Given the description of an element on the screen output the (x, y) to click on. 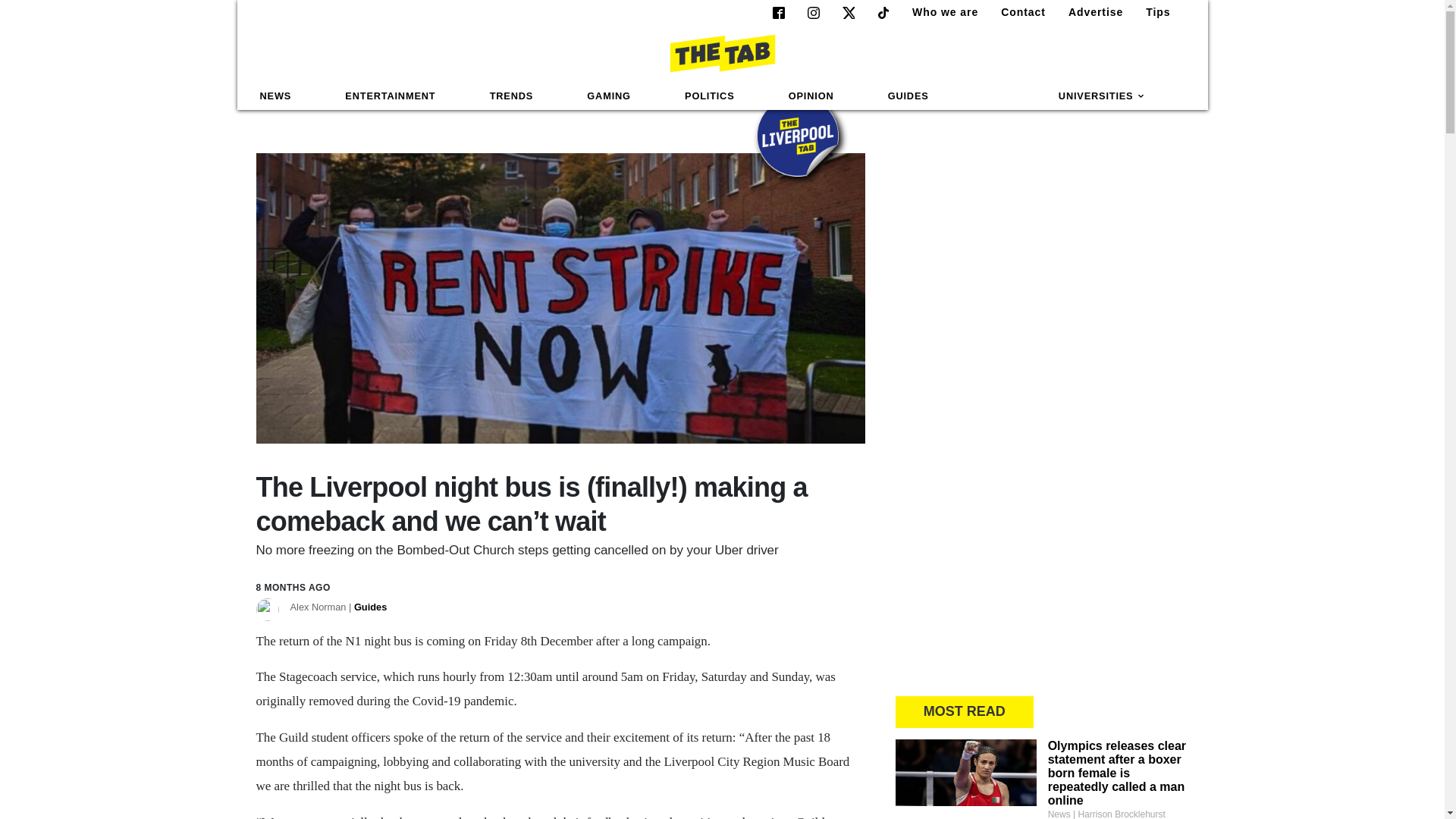
Tips (1152, 11)
TRENDS (511, 96)
Who we are (938, 11)
Contact (1016, 11)
POLITICS (708, 96)
OPINION (811, 96)
GUIDES (908, 96)
Posts by Alex Norman (338, 607)
ENTERTAINMENT (389, 96)
UNIVERSITIES (1101, 96)
GAMING (608, 96)
Advertise (1089, 11)
NEWS (275, 96)
